Given the description of an element on the screen output the (x, y) to click on. 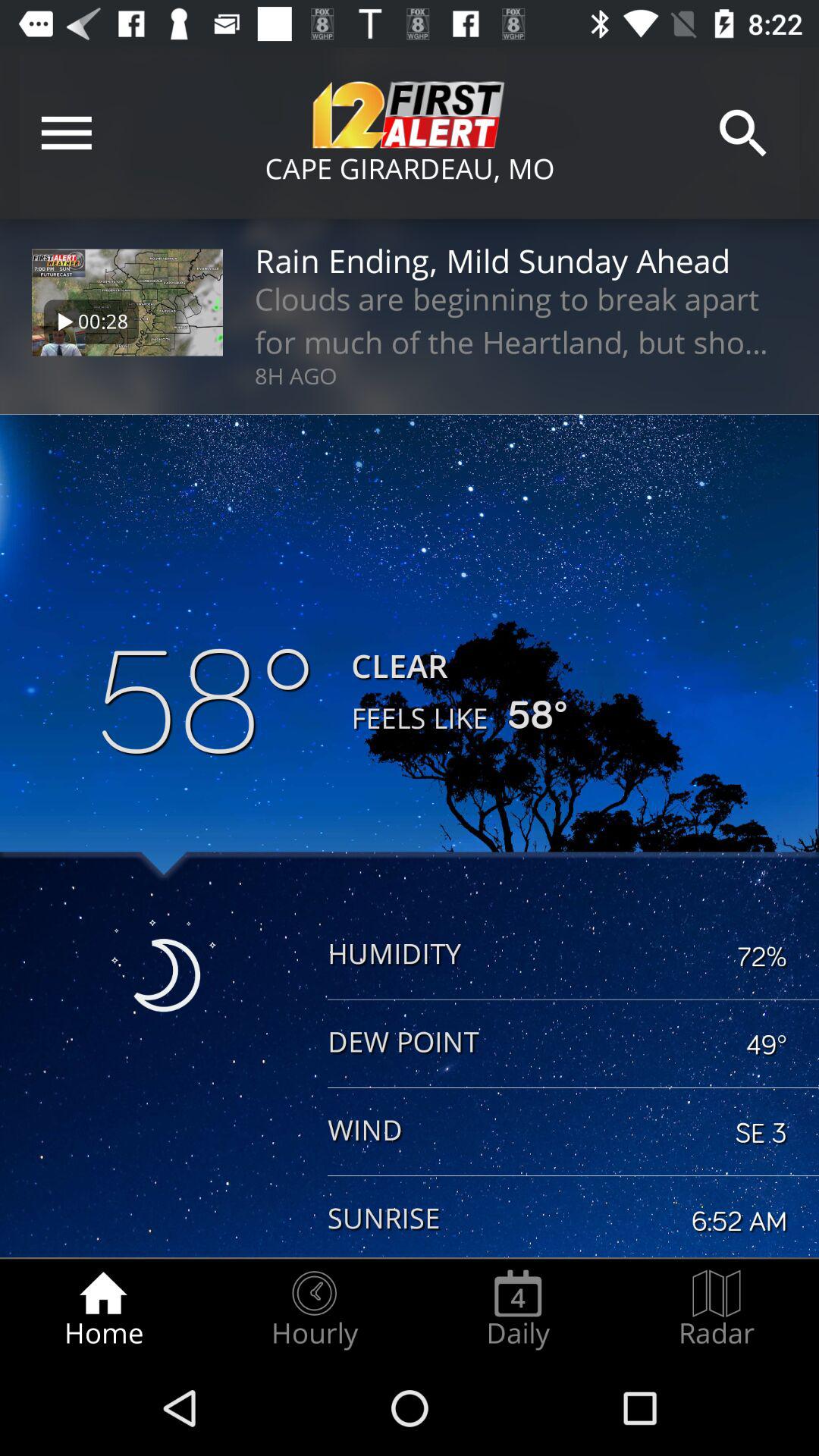
click item next to hourly (103, 1309)
